Given the description of an element on the screen output the (x, y) to click on. 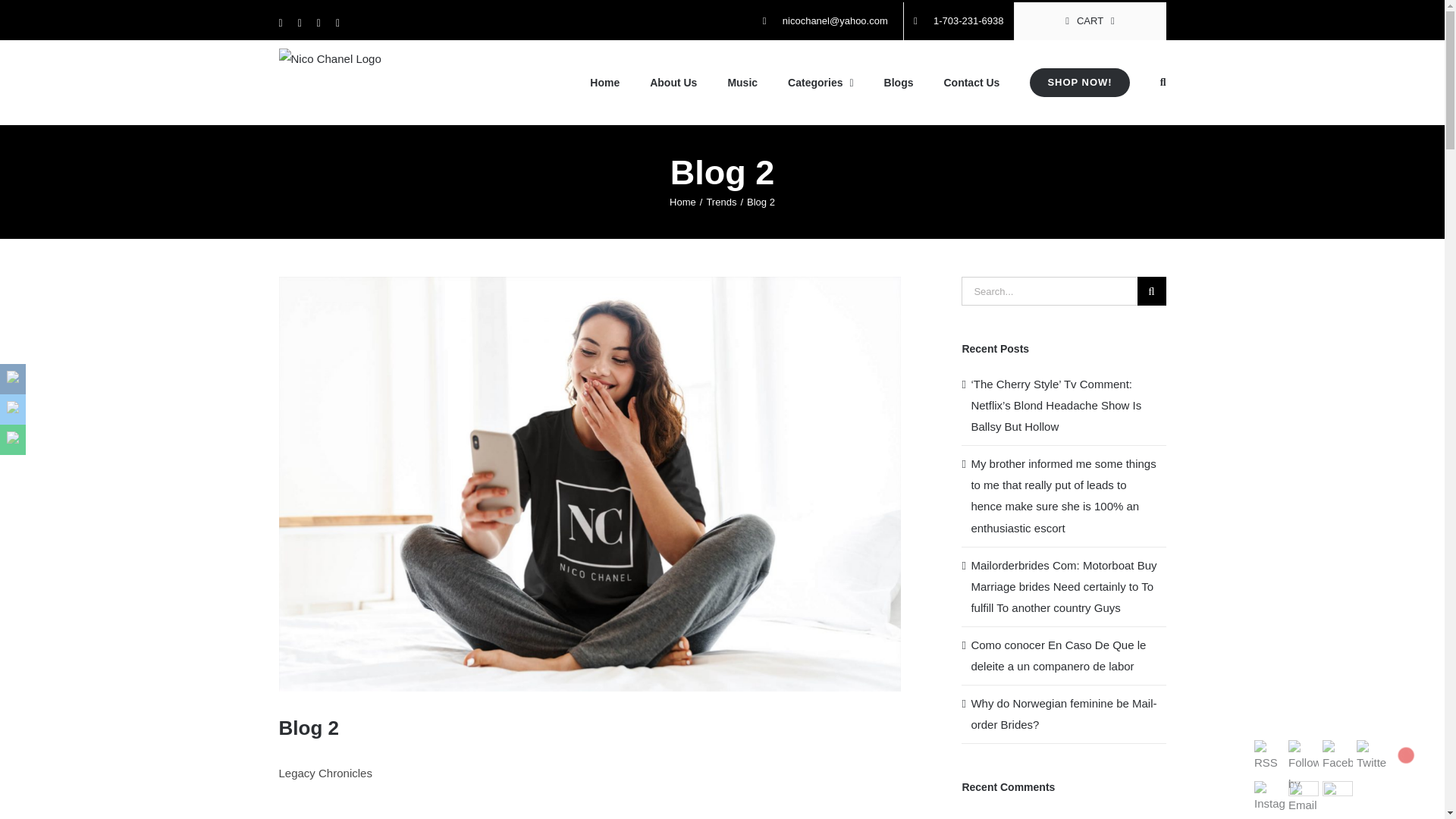
SHOP NOW! (1079, 82)
Legacy Chronicles (590, 780)
Home (682, 202)
Trends (721, 202)
1-703-231-6938 (958, 21)
CART (1090, 21)
